Given the description of an element on the screen output the (x, y) to click on. 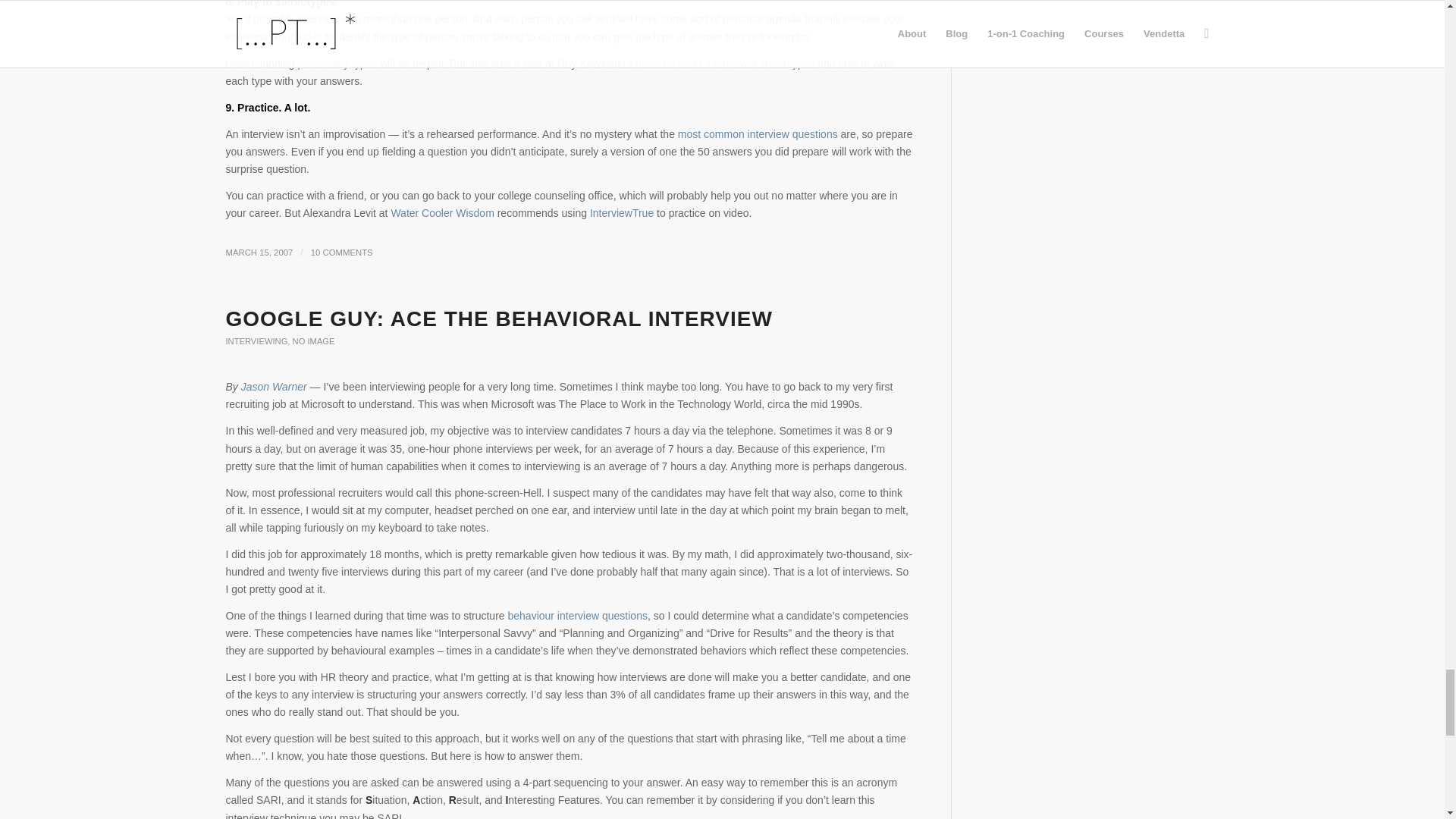
Permanent Link: Google Guy: Ace the behavioral interview (499, 318)
